Given the description of an element on the screen output the (x, y) to click on. 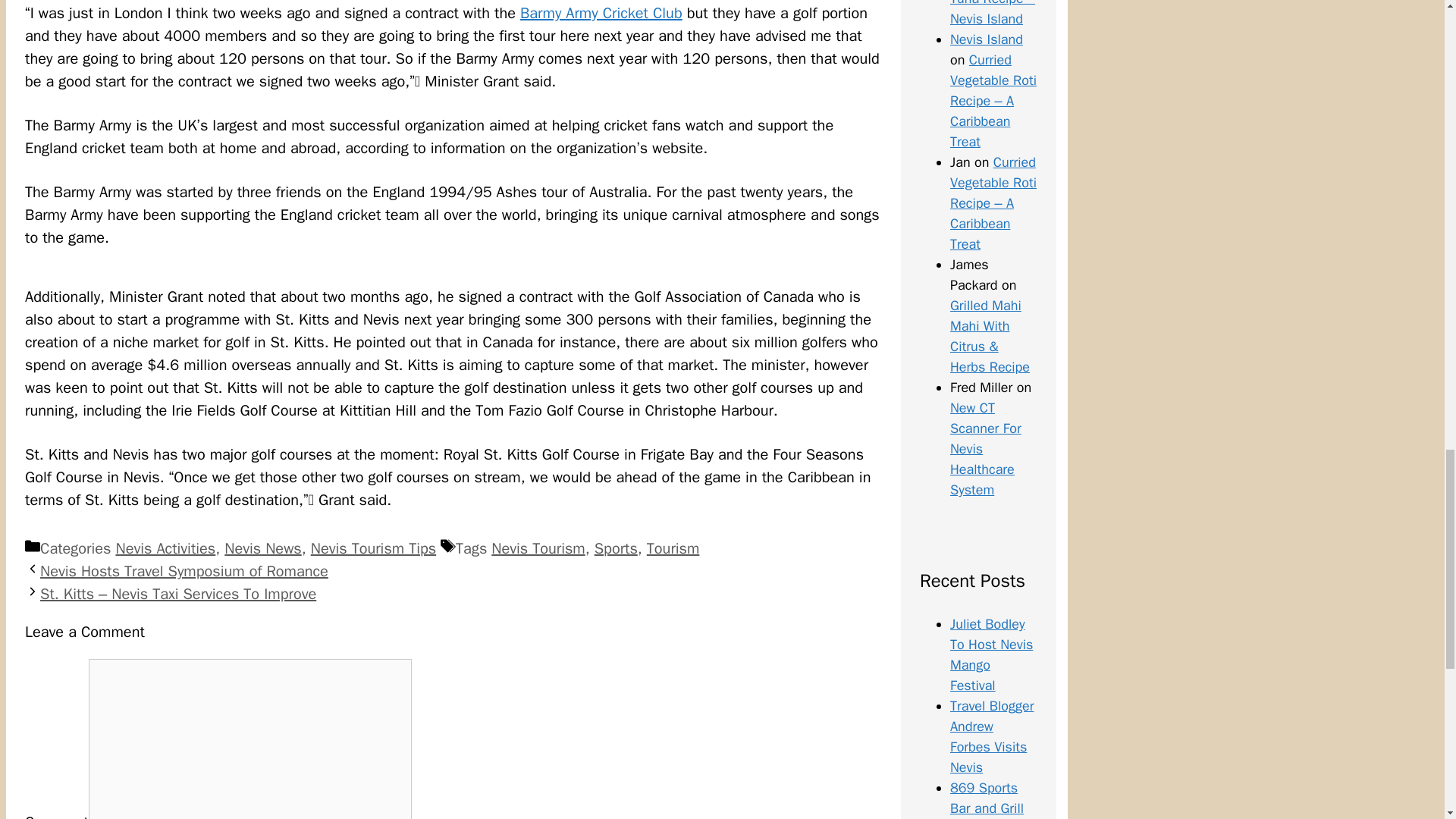
Nevis Tourism Tips (373, 547)
Barmy Army Cricket Club (600, 13)
Nevis Activities (165, 547)
Sports (615, 547)
Nevis Island (986, 39)
Nevis Tourism (538, 547)
Nevis Hosts Travel Symposium of Romance (184, 570)
Tourism (673, 547)
Nevis News (262, 547)
